Given the description of an element on the screen output the (x, y) to click on. 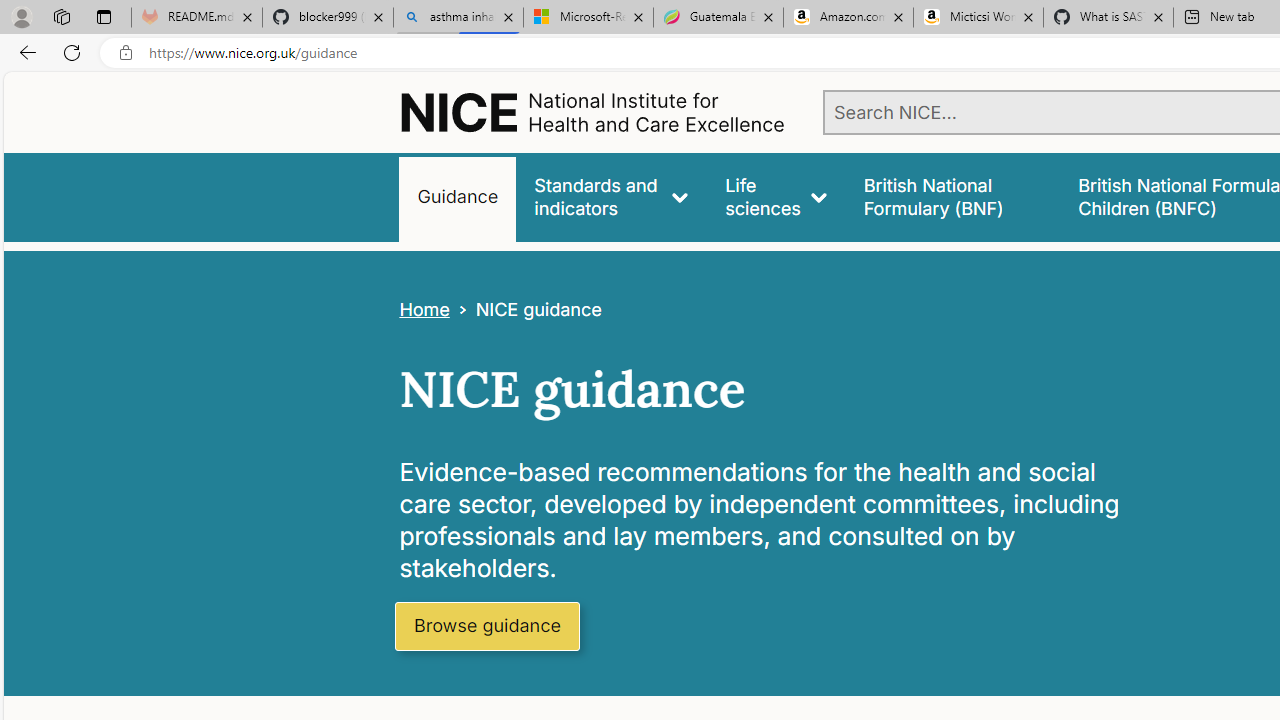
Life sciences (776, 196)
Guidance (458, 196)
Personal Profile (21, 16)
Browse guidance (486, 626)
Life sciences (776, 196)
asthma inhaler - Search (458, 17)
Guidance (458, 196)
